Given the description of an element on the screen output the (x, y) to click on. 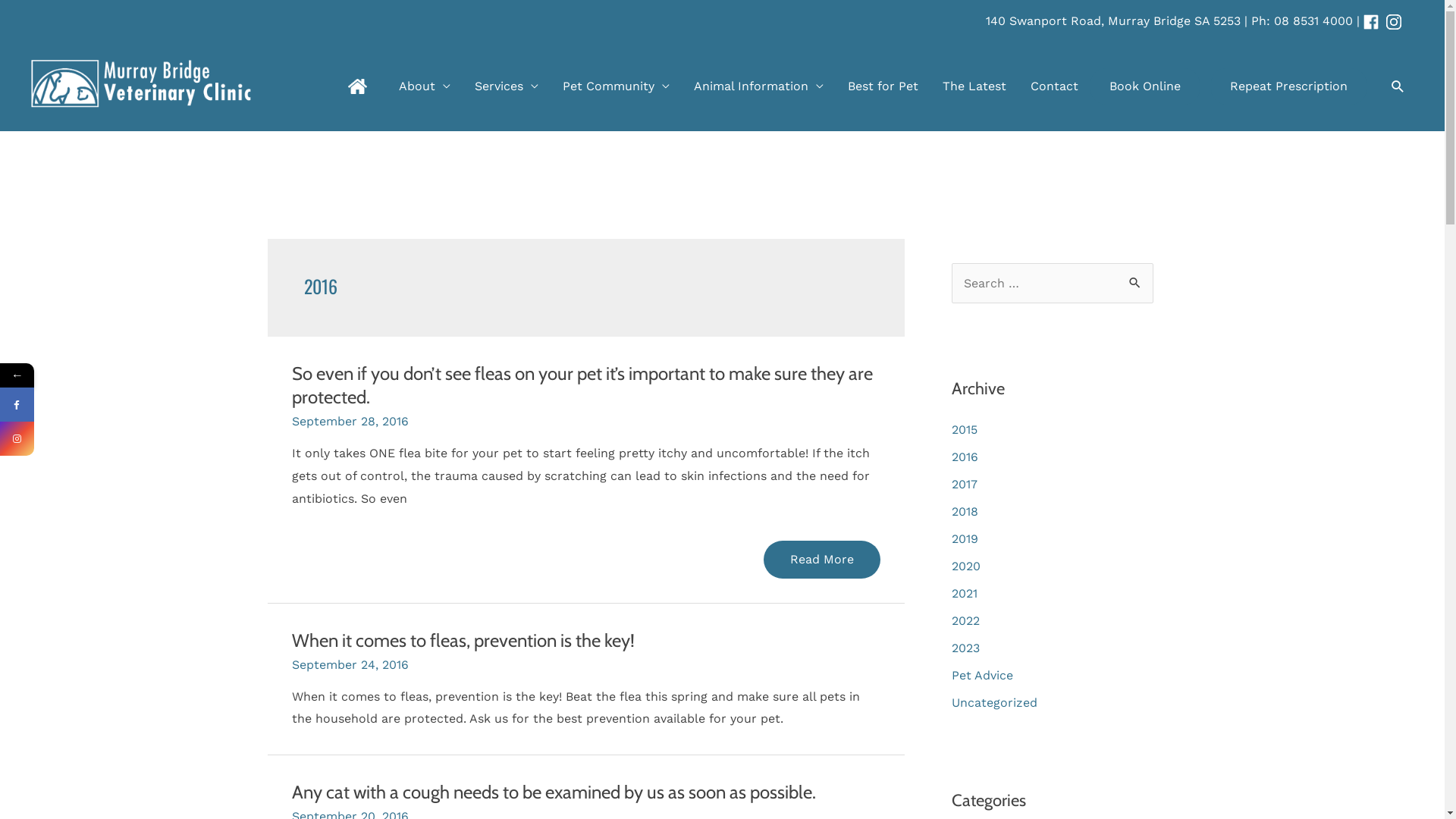
Pet Advice Element type: text (981, 675)
2023 Element type: text (964, 647)
Facebook Element type: hover (17, 404)
Facebook Element type: text (86, 404)
Services Element type: text (506, 86)
Animal Information Element type: text (758, 86)
Pet Community Element type: text (615, 86)
2020 Element type: text (964, 565)
Instagram Element type: text (86, 438)
2018 Element type: text (963, 511)
Best for Pet Element type: text (882, 86)
2016 Element type: text (963, 456)
Search Element type: text (1397, 86)
Contact Element type: text (1054, 86)
Uncategorized Element type: text (993, 702)
Instagram Element type: hover (17, 438)
2022 Element type: text (964, 620)
2017 Element type: text (963, 483)
Repeat Prescription Element type: text (1288, 86)
2021 Element type: text (963, 593)
Search Element type: text (1136, 278)
Home Element type: text (356, 86)
2019 Element type: text (963, 538)
Book Online Element type: text (1144, 86)
2015 Element type: text (963, 429)
When it comes to fleas, prevention is the key! Element type: text (462, 640)
Read More Element type: text (820, 559)
About Element type: text (424, 86)
The Latest Element type: text (974, 86)
